Given the description of an element on the screen output the (x, y) to click on. 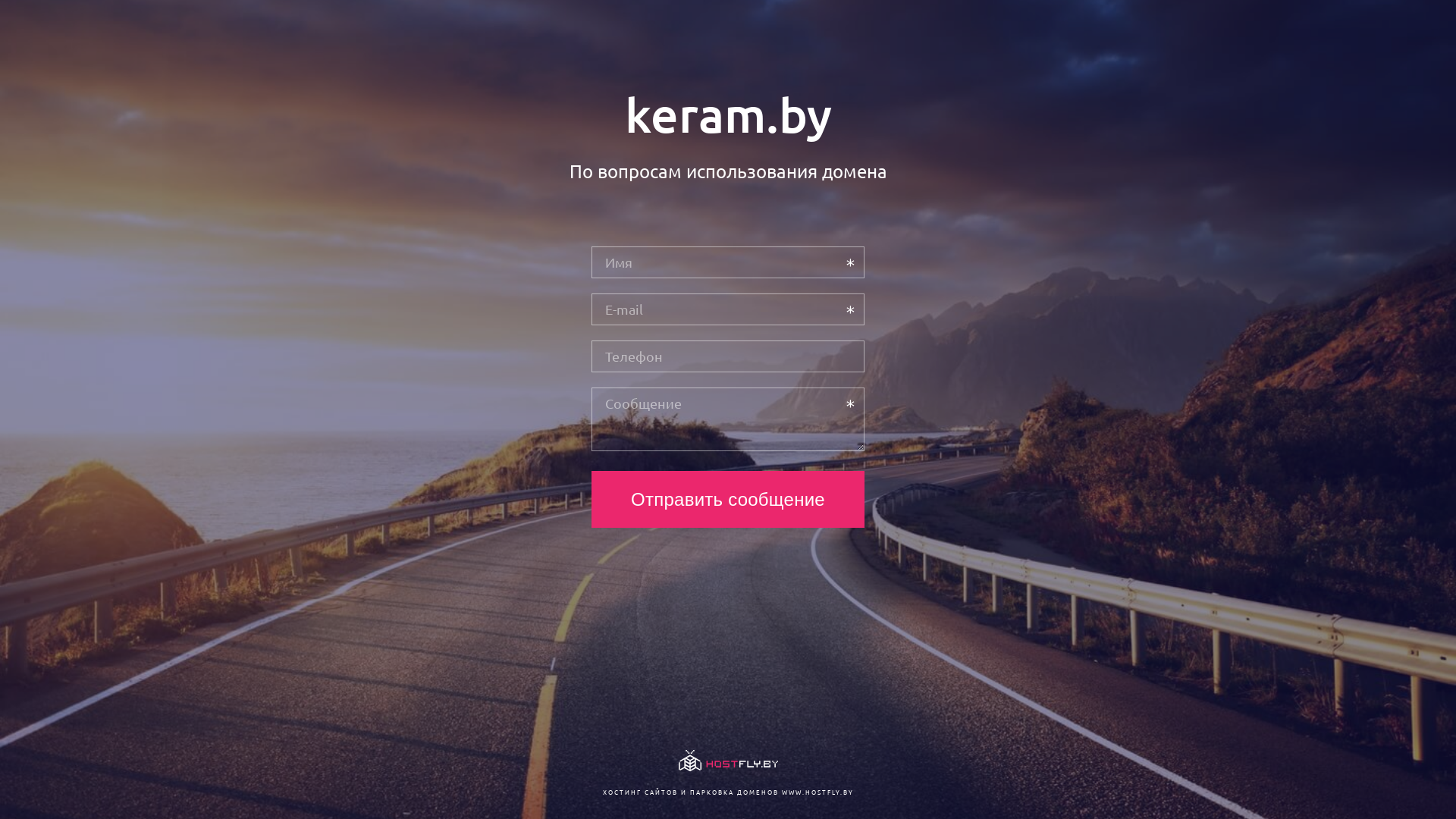
WWW.HOSTFLY.BY Element type: text (817, 791)
